Given the description of an element on the screen output the (x, y) to click on. 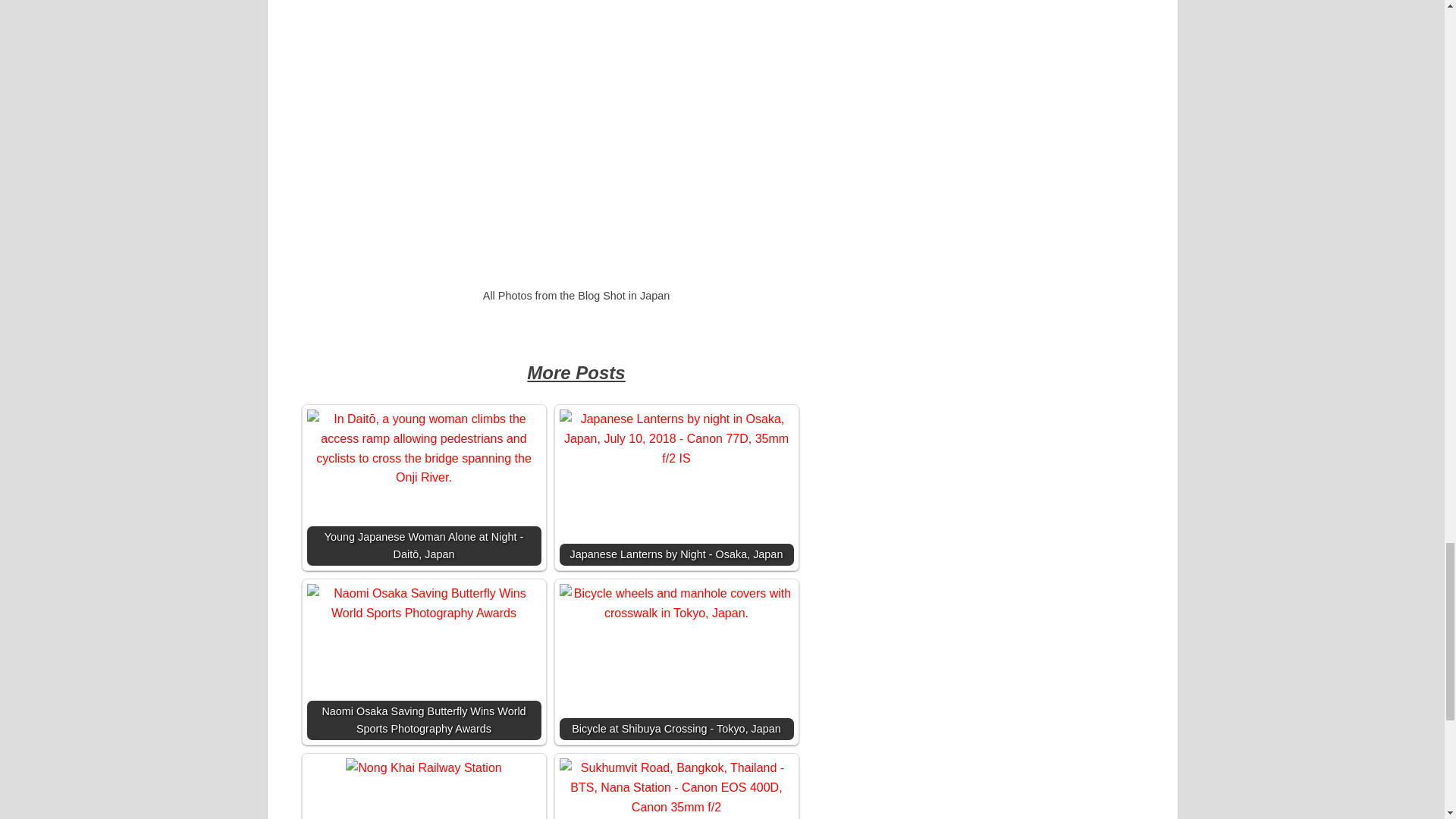
Japanese Lanterns by Night - Osaka, Japan (676, 438)
Bicycle at Shibuya Crossing - Tokyo, Japan (676, 602)
